Given the description of an element on the screen output the (x, y) to click on. 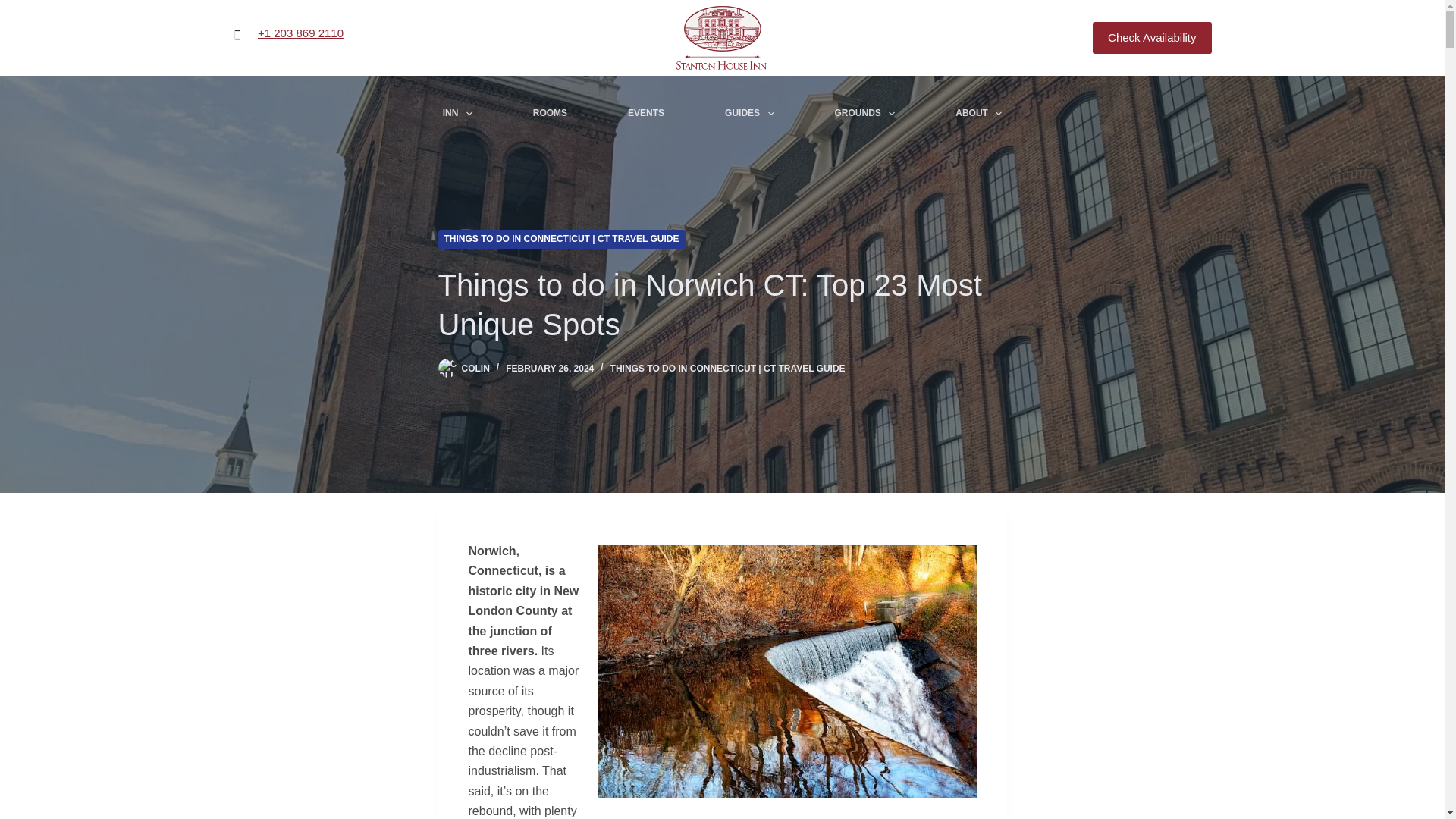
Things to do in Norwich CT: Top 23 Most Unique Spots (722, 304)
Posts by Colin (475, 368)
INN (457, 113)
Check Availability (1152, 38)
Things To Do In Norwich Ct: Top 23 Most Unique Spots 1 (786, 671)
Skip to content (15, 7)
